Given the description of an element on the screen output the (x, y) to click on. 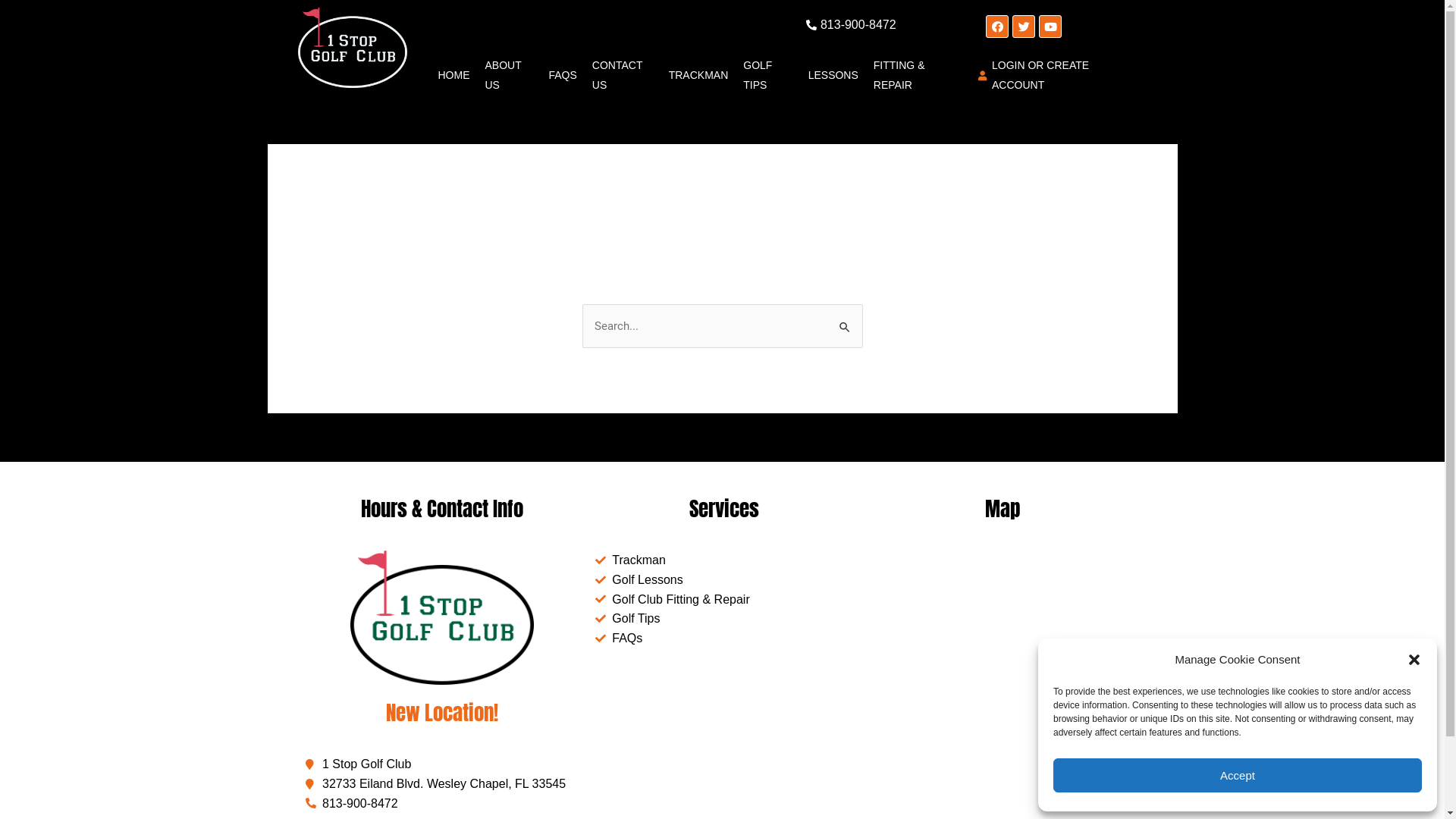
ABOUT US Element type: text (508, 75)
Golf Tips Element type: text (724, 618)
Golf Club Fitting & Repair Element type: text (724, 599)
Golf Lessons Element type: text (724, 579)
FITTING & REPAIR Element type: text (915, 75)
FAQS Element type: text (561, 75)
813-900-8472 Element type: text (441, 803)
Twitter Element type: text (1023, 26)
TRACKMAN Element type: text (698, 75)
Facebook Element type: text (996, 26)
GOLF TIPS Element type: text (767, 75)
LESSONS Element type: text (833, 75)
Accept Element type: text (1237, 775)
Search Element type: text (845, 319)
LOGIN OR CREATE ACCOUNT Element type: text (1050, 75)
HOME Element type: text (452, 75)
813-900-8472 Element type: text (783, 24)
CONTACT US Element type: text (622, 75)
Trackman Element type: text (724, 560)
FAQs Element type: text (724, 638)
Youtube Element type: text (1049, 26)
